Given the description of an element on the screen output the (x, y) to click on. 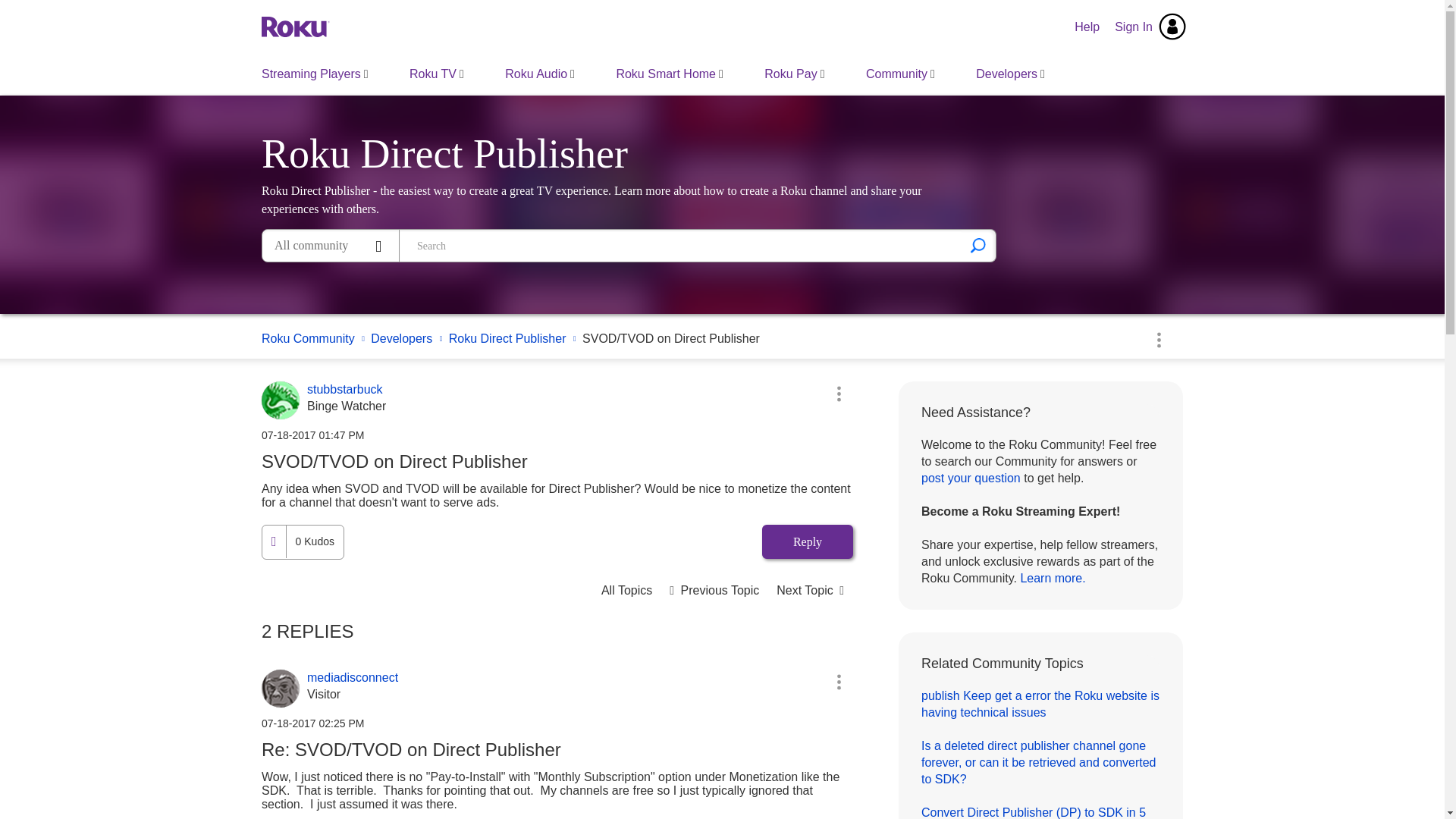
Search (680, 245)
Search (977, 245)
Search (977, 245)
Show option menu (839, 393)
Click here to give kudos to this post. (273, 541)
Community (900, 73)
Developers (1010, 73)
Show option menu (1158, 339)
Roku Pay (794, 73)
Help (1086, 26)
Search Granularity (330, 245)
Streaming Players (315, 73)
stubbstarbuck (280, 400)
Roku Community (296, 26)
Search (977, 245)
